Given the description of an element on the screen output the (x, y) to click on. 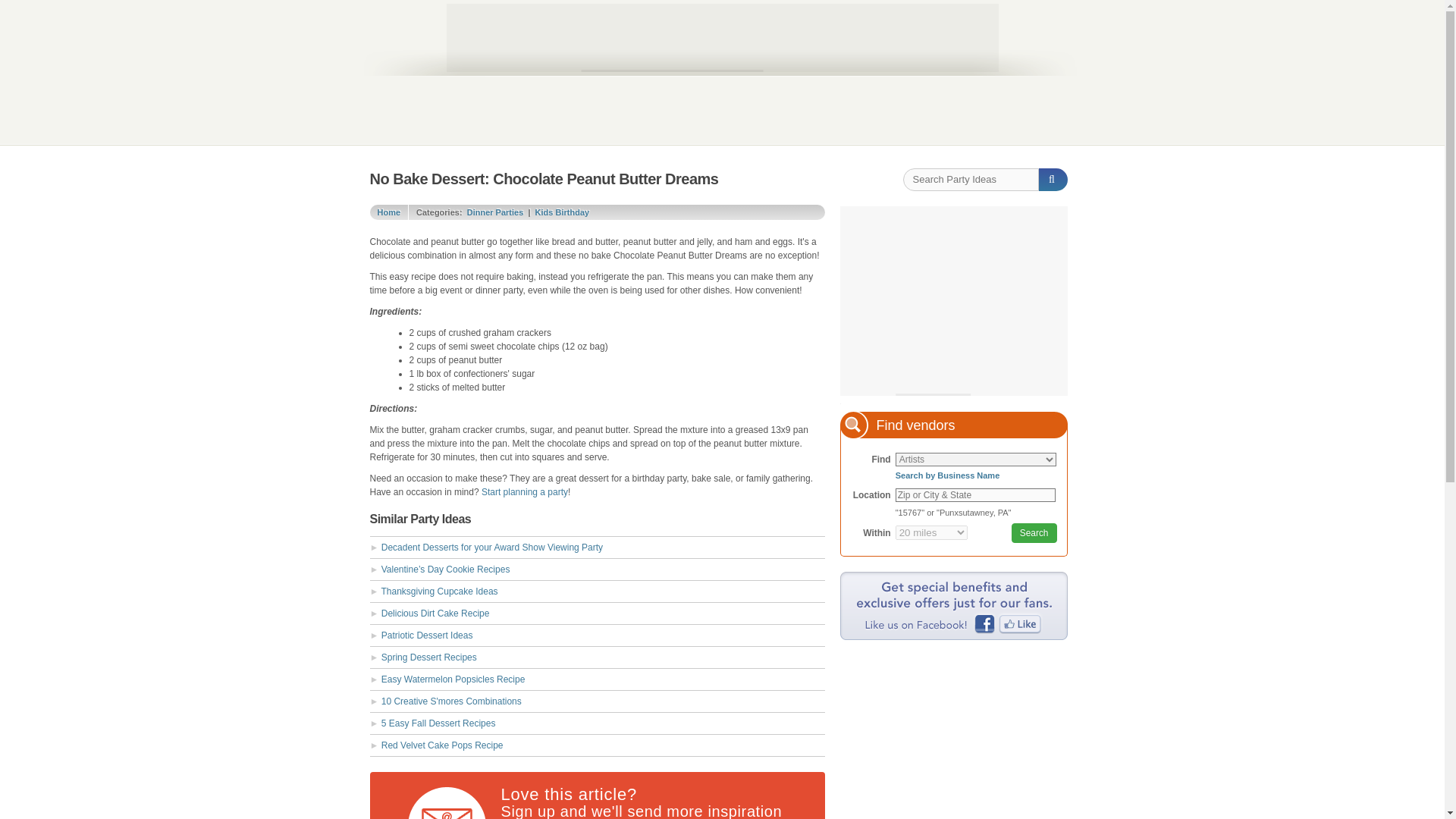
Spring Dessert Recipes (429, 656)
Search (1034, 532)
Thanksgiving Cupcake Ideas (439, 591)
Dinner Parties (495, 212)
Home (389, 212)
10 Creative S'mores Combinations (451, 701)
Delicious Dirt Cake Recipe (435, 613)
Search (1034, 532)
Red Velvet Cake Pops Recipe (442, 745)
Start planning a party (524, 491)
